Given the description of an element on the screen output the (x, y) to click on. 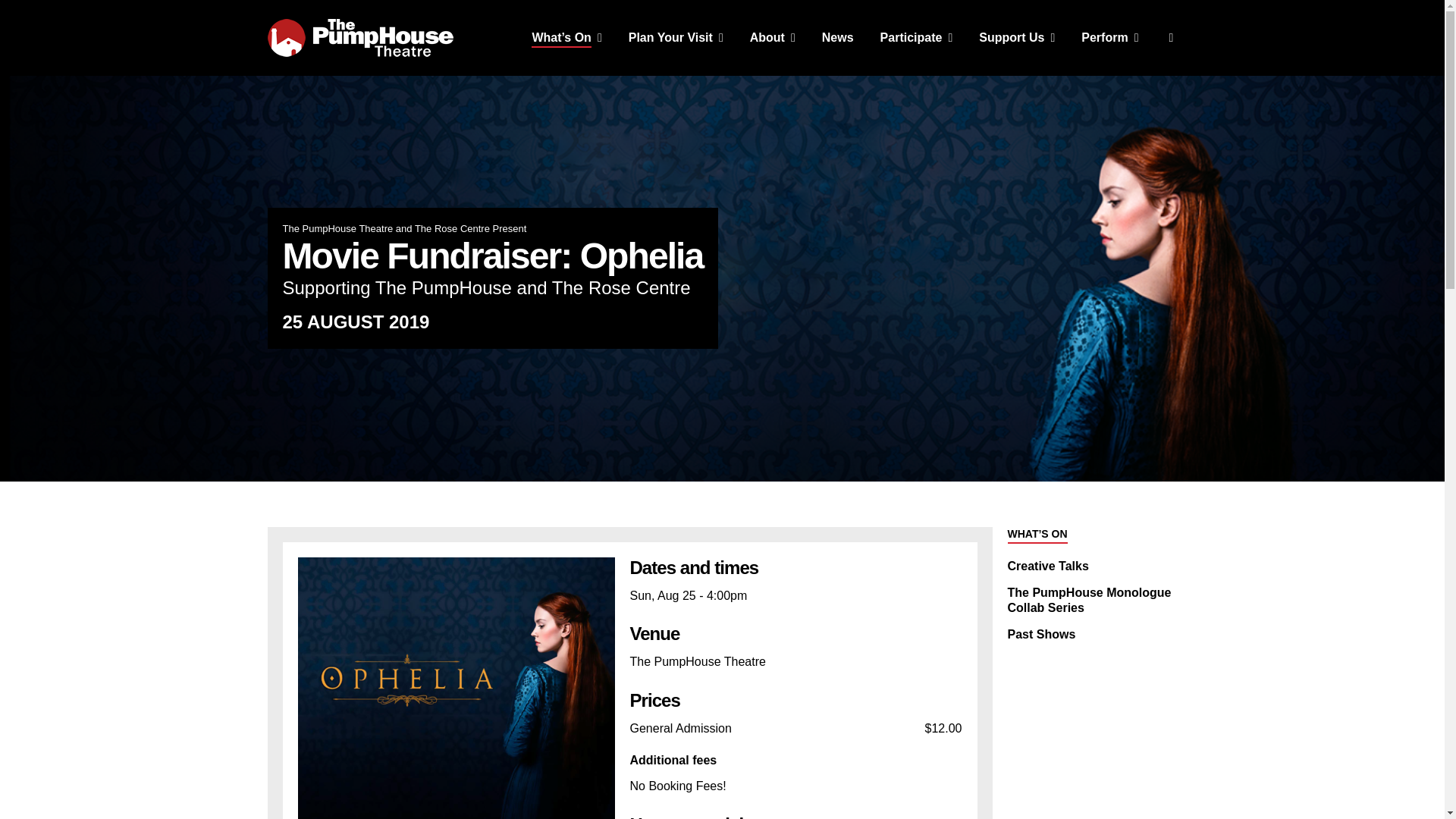
Plan Your Visit (675, 37)
About (771, 37)
Support Us (1016, 37)
Participate (916, 37)
